Given the description of an element on the screen output the (x, y) to click on. 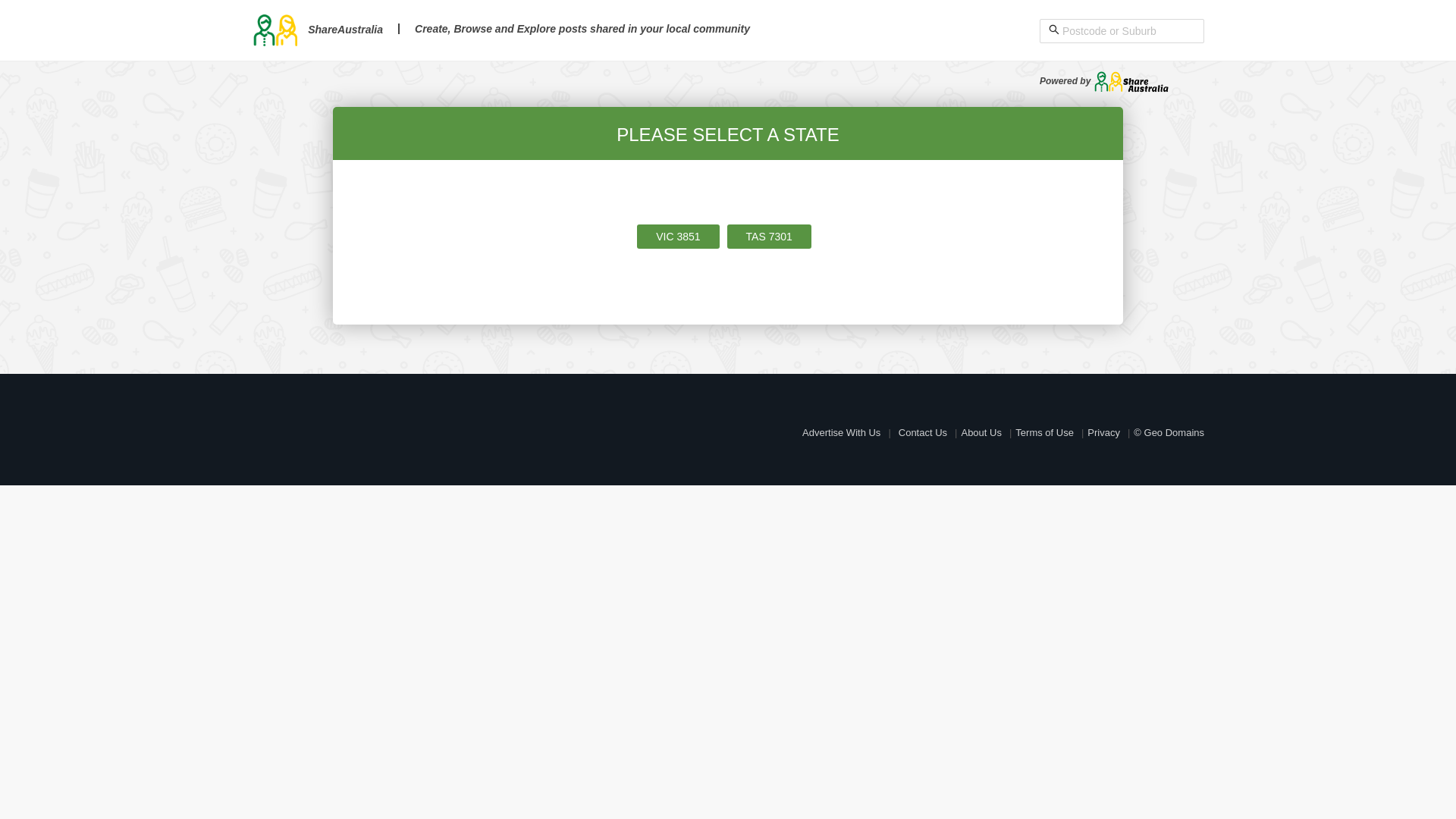
Contact Us Element type: text (922, 432)
Terms of Use Element type: text (1044, 432)
About Us Element type: text (980, 432)
VIC 3851 Element type: text (677, 236)
ShareAustralia Element type: text (316, 29)
Advertise With Us Element type: text (841, 432)
Privacy Element type: text (1103, 432)
TAS 7301 Element type: text (769, 236)
Powered by Element type: text (1104, 80)
